Given the description of an element on the screen output the (x, y) to click on. 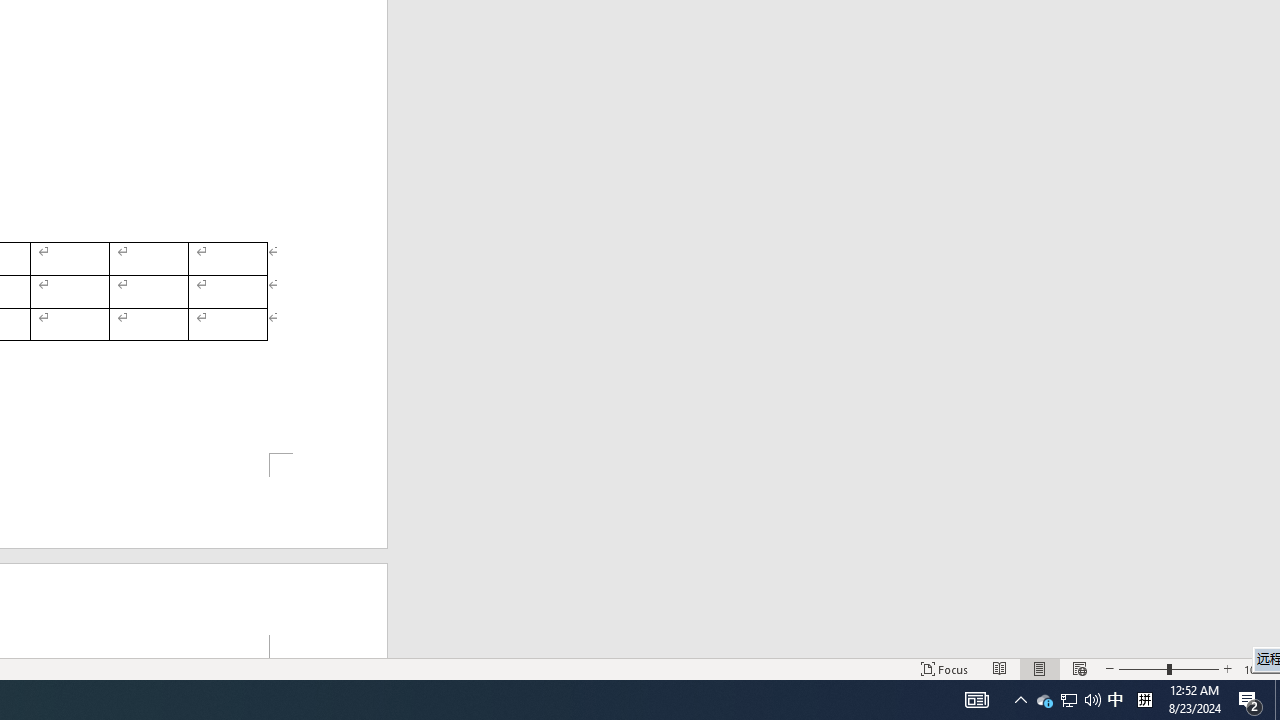
Zoom 100% (1258, 668)
